Given the description of an element on the screen output the (x, y) to click on. 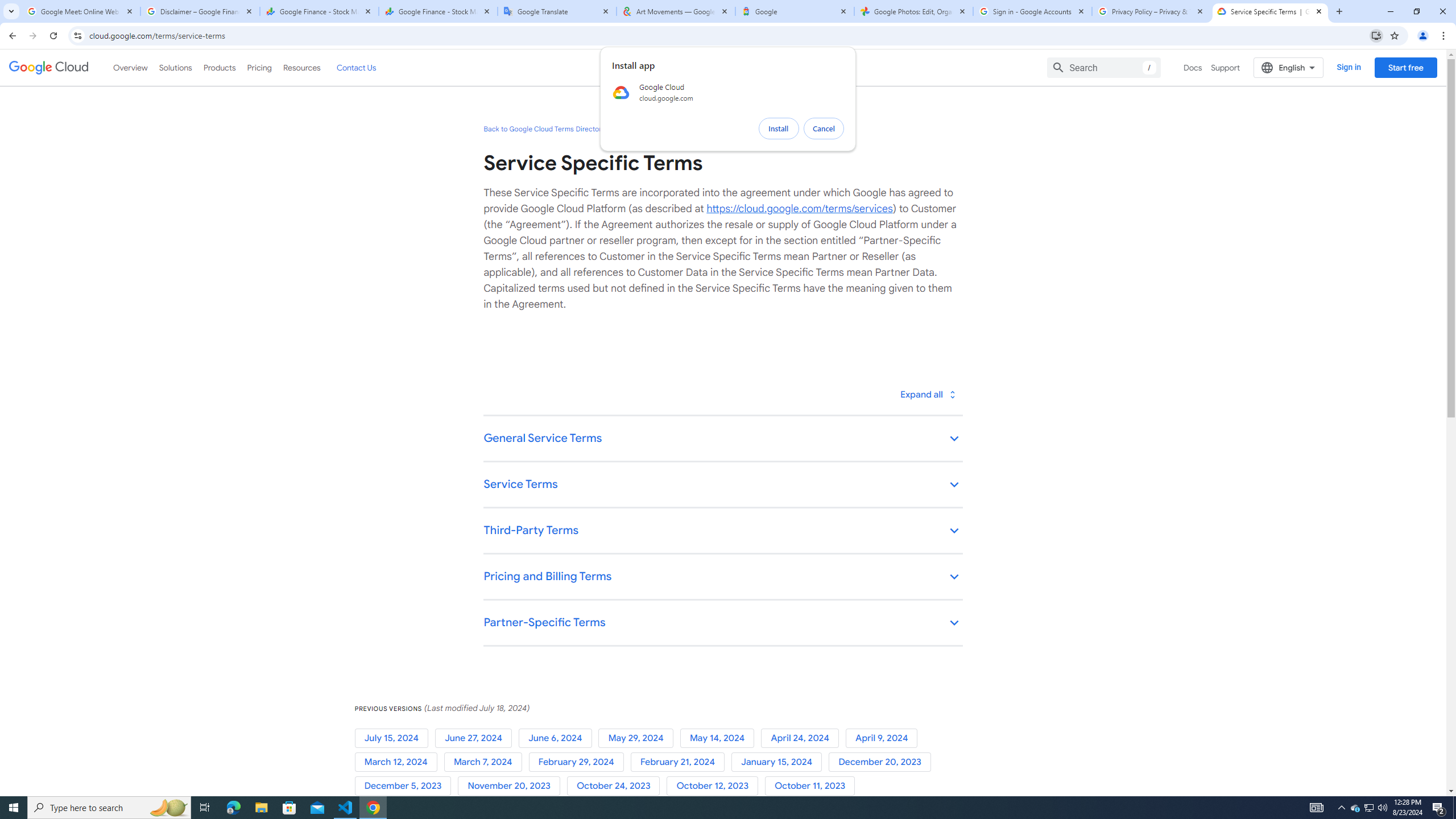
December 5, 2023 (405, 786)
https://cloud.google.com/terms/services (799, 208)
Solutions (175, 67)
January 15, 2024 (779, 761)
July 15, 2024 (394, 737)
Back to Google Cloud Terms Directory (544, 128)
February 21, 2024 (680, 761)
